Given the description of an element on the screen output the (x, y) to click on. 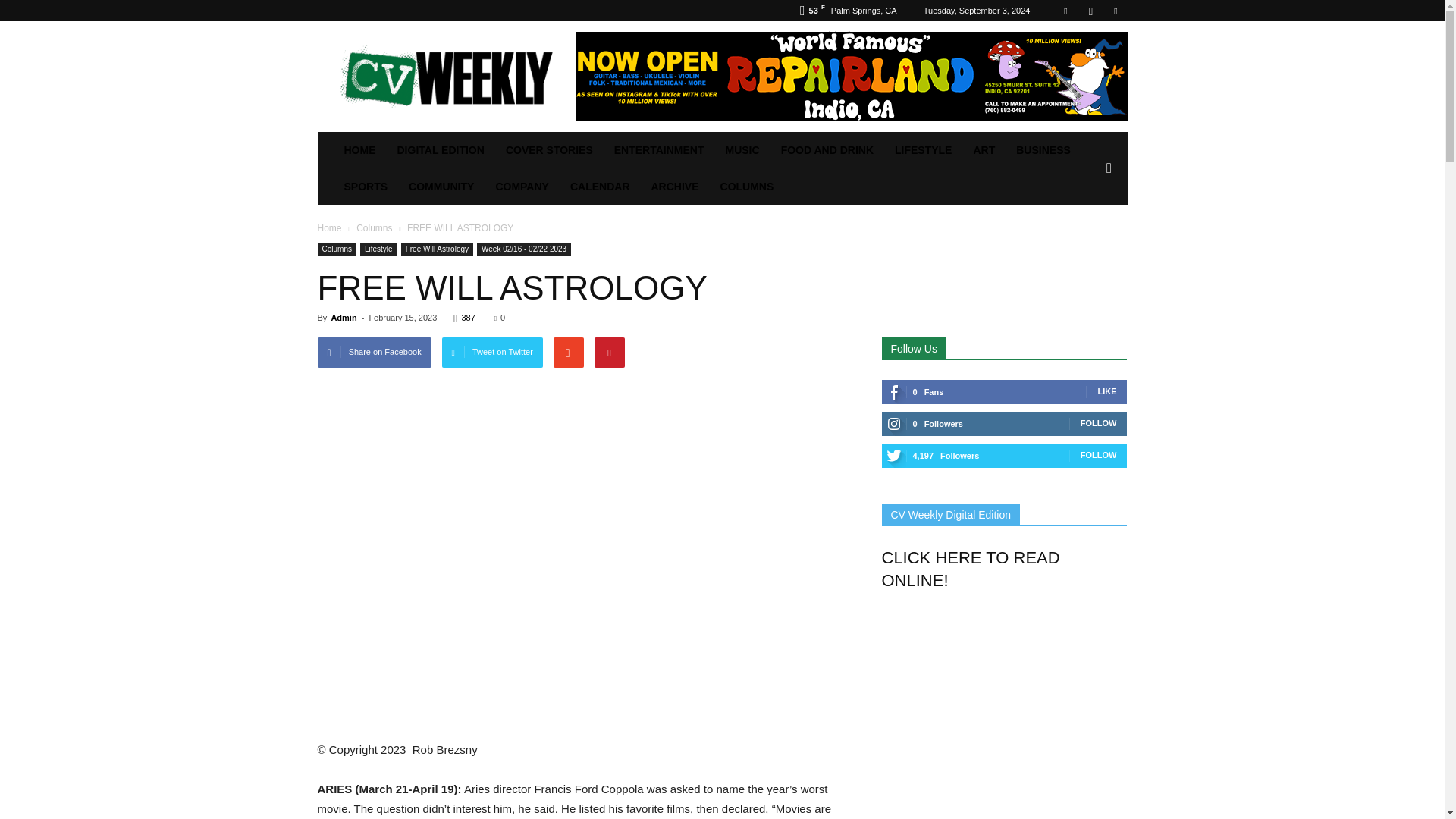
Twitter (1114, 10)
Instagram (1090, 10)
Facebook (1065, 10)
The Premiere Coachella Valley Newspaper (445, 76)
